Given the description of an element on the screen output the (x, y) to click on. 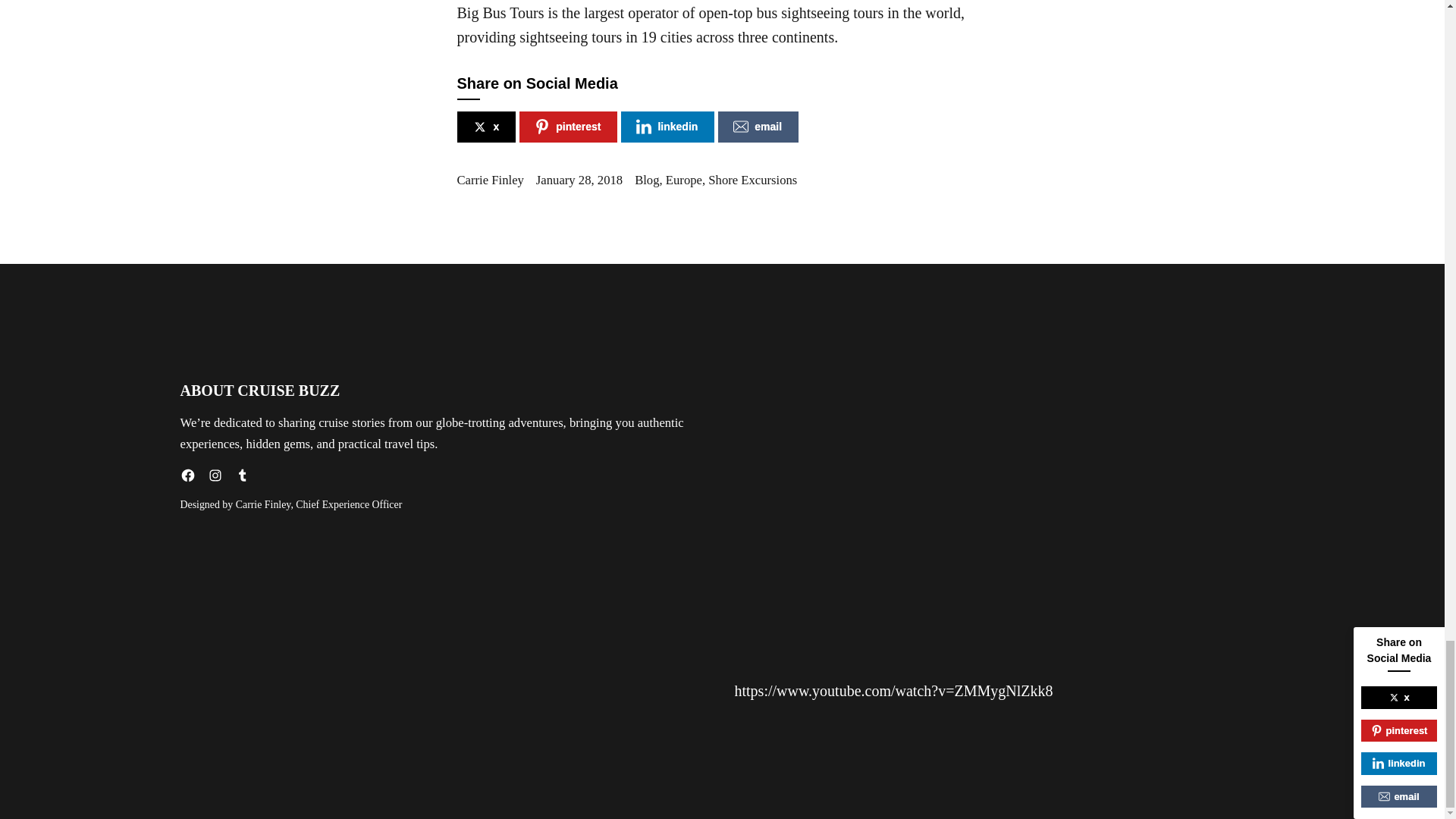
Blog (646, 179)
pinterest (568, 126)
Shore Excursions (751, 179)
linkedin (667, 126)
Instagram (215, 475)
Facebook (187, 475)
Tumblr (242, 475)
January 28, 2018 (579, 179)
email (757, 126)
Europe (683, 179)
x (486, 126)
Carrie Finley (489, 179)
